Given the description of an element on the screen output the (x, y) to click on. 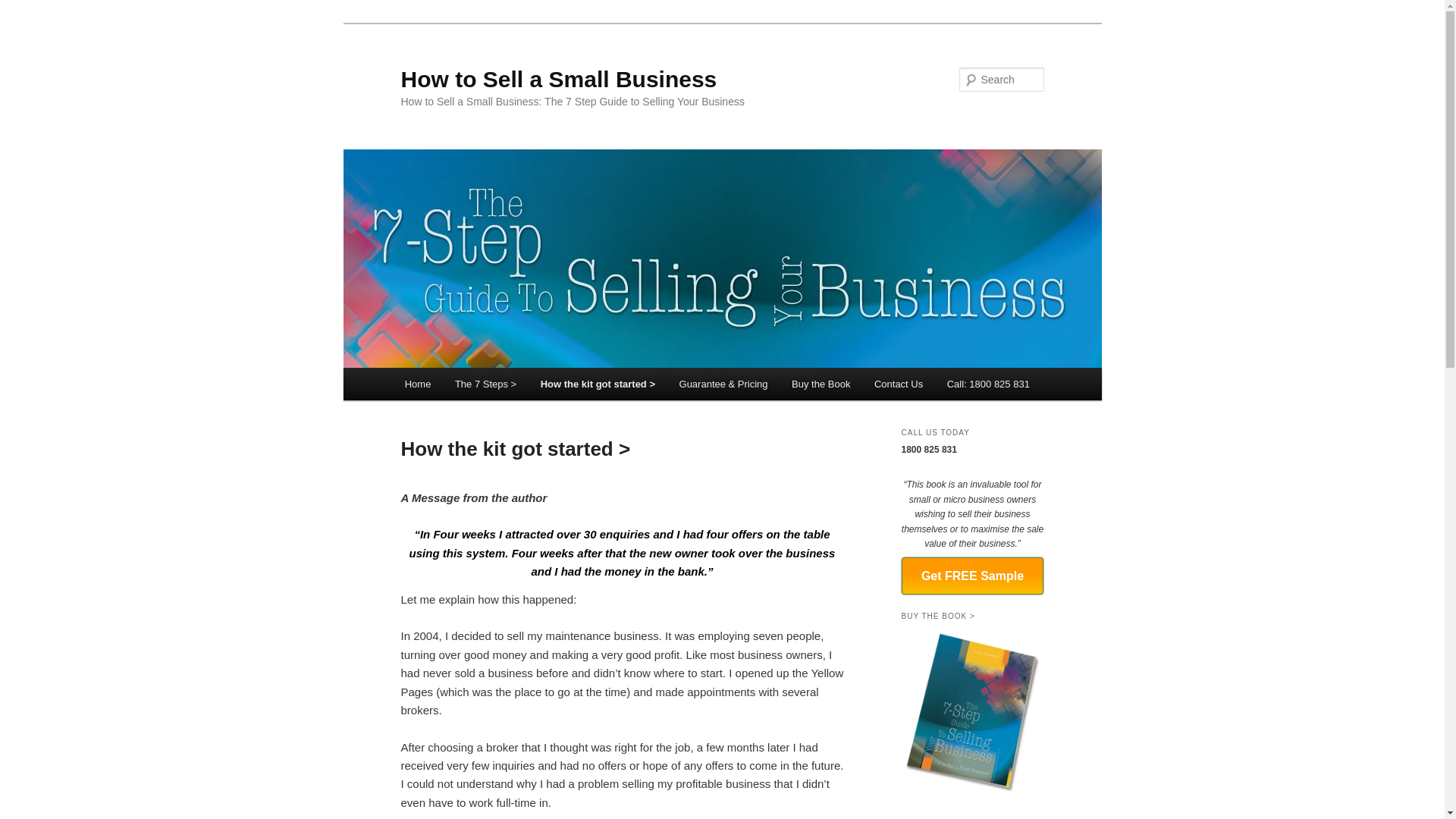
Guarantee & Pricing Element type: text (723, 383)
Get FREE Sample Element type: text (972, 575)
Contact Us Element type: text (898, 383)
Search Element type: text (24, 8)
How the kit got started > Element type: text (597, 383)
Search Element type: text (20, 10)
Call: 1800 825 831 Element type: text (988, 383)
How to Sell a Small Business Element type: text (558, 78)
The 7 Steps > Element type: text (485, 383)
Buy the Book Element type: text (820, 383)
Home Element type: text (417, 383)
Skip to primary content Element type: text (472, 386)
